Given the description of an element on the screen output the (x, y) to click on. 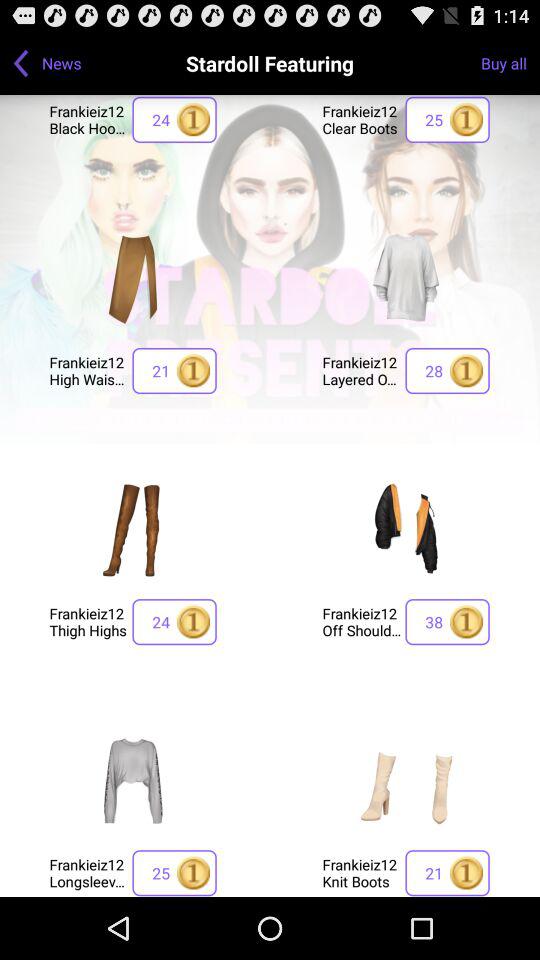
select item to the left of 24 button (88, 621)
